Given the description of an element on the screen output the (x, y) to click on. 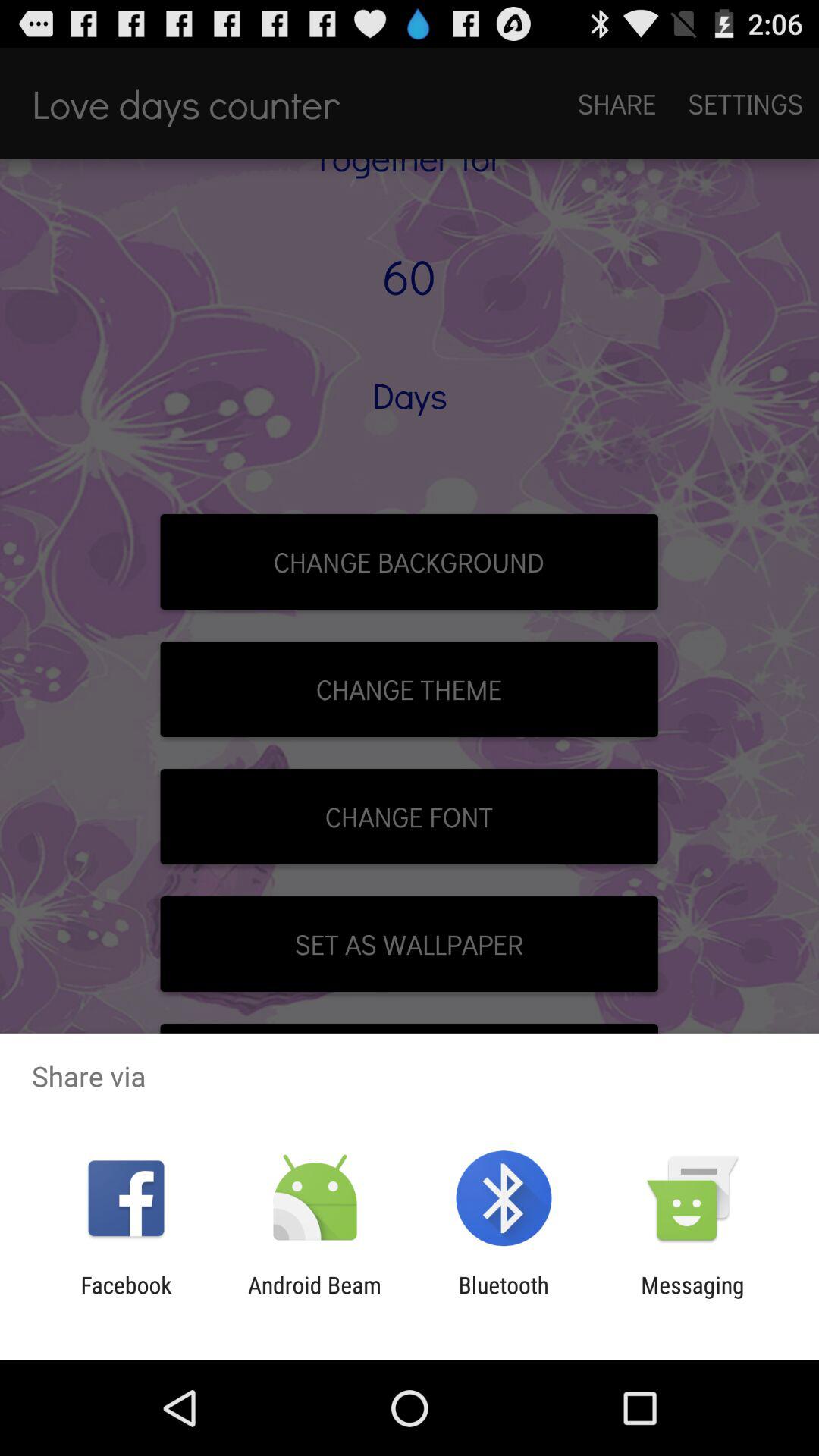
press the icon to the left of android beam item (125, 1298)
